Given the description of an element on the screen output the (x, y) to click on. 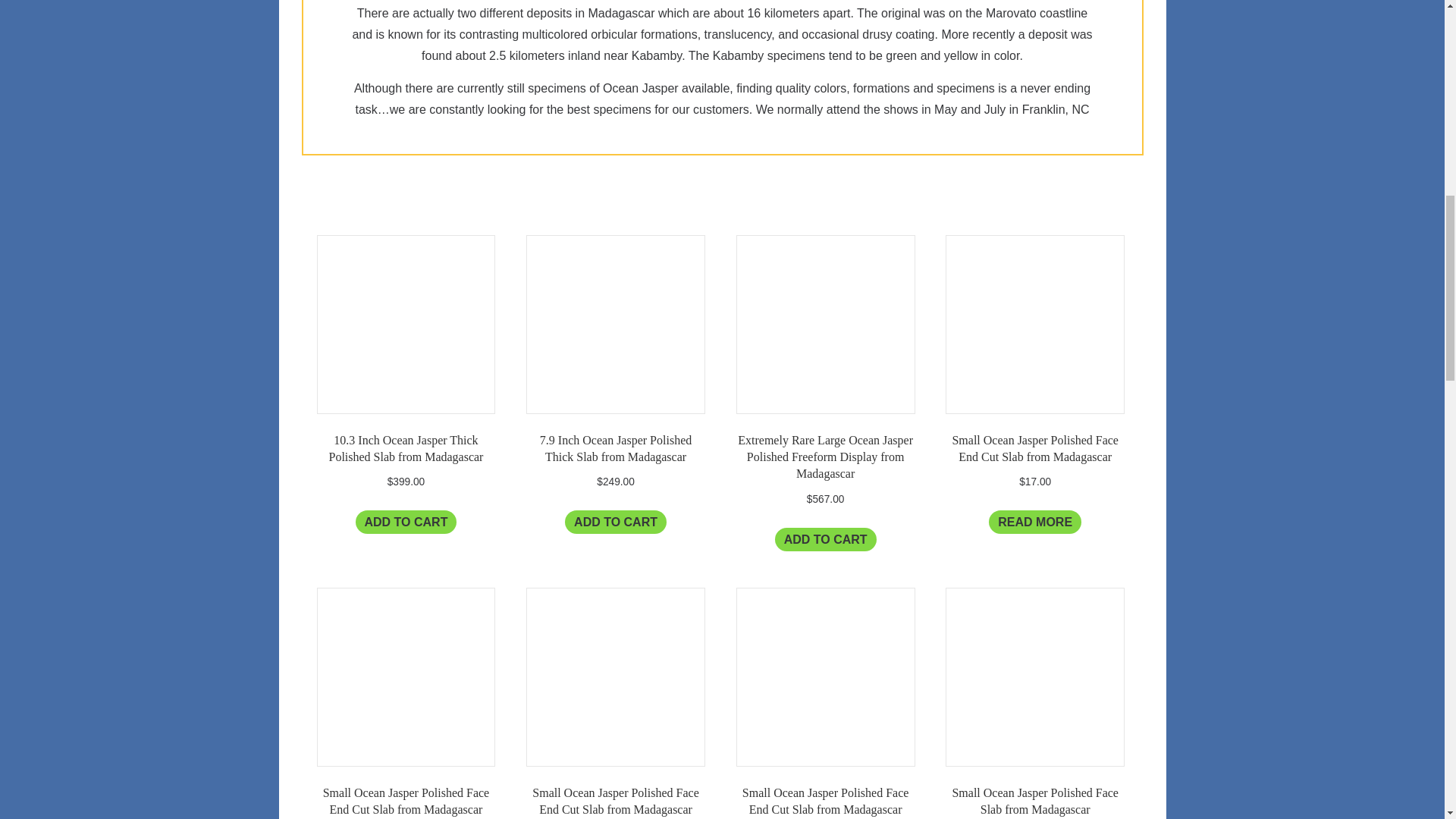
ADD TO CART (825, 539)
READ MORE (1034, 521)
ADD TO CART (615, 521)
ADD TO CART (406, 521)
